Given the description of an element on the screen output the (x, y) to click on. 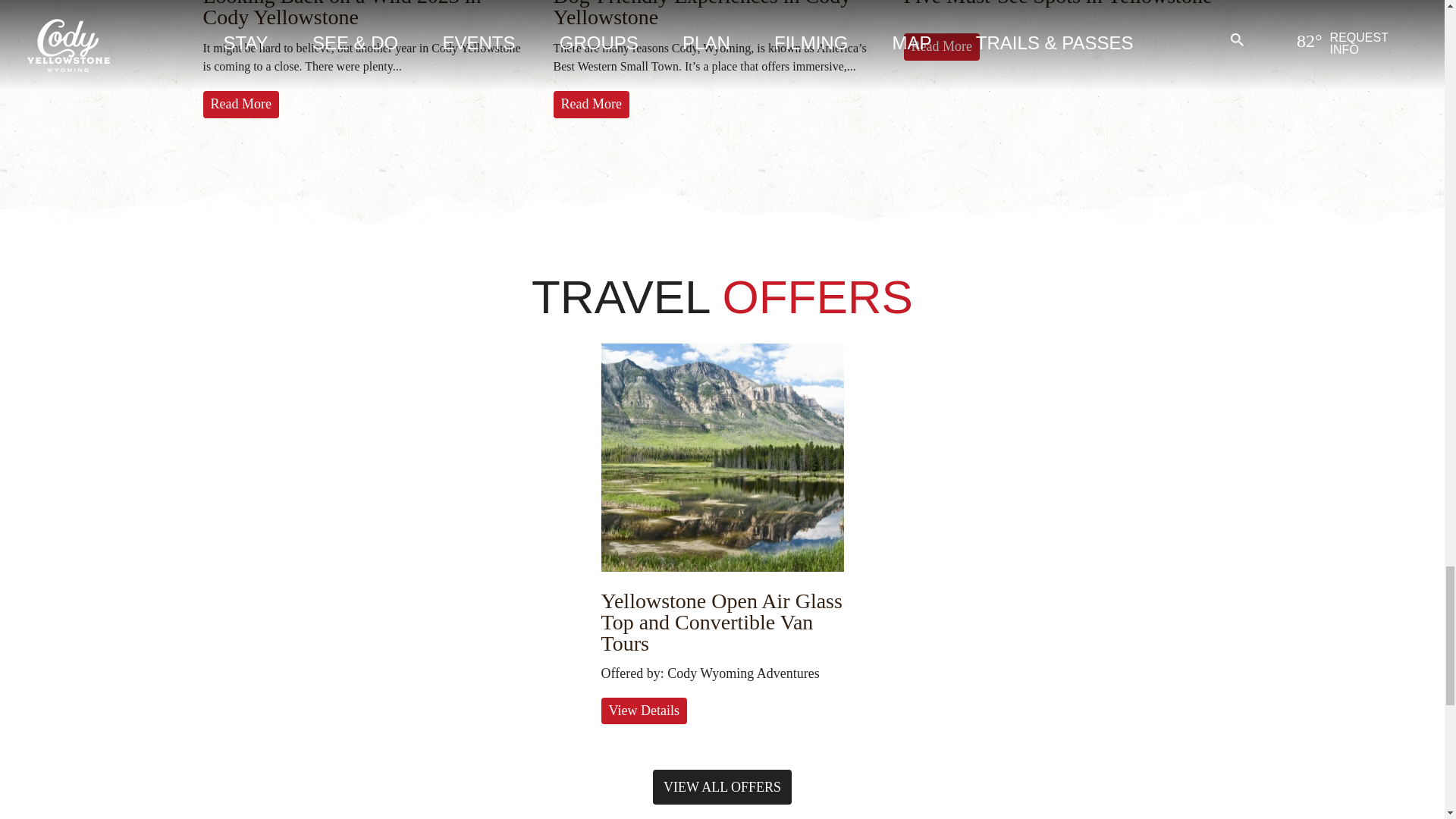
Dog-Friendly Experiences in Cody Yellowstone (702, 14)
Looking Back on a Wild 2023 in Cody Yellowstone (342, 14)
VIEW ALL OFFERS (722, 786)
Read More (941, 46)
Read More (590, 103)
Five Must-See Spots in Yellowstone (1058, 3)
View Details (642, 710)
Yellowstone Open Air Glass Top and Convertible Van Tours (720, 621)
Read More (241, 103)
